Given the description of an element on the screen output the (x, y) to click on. 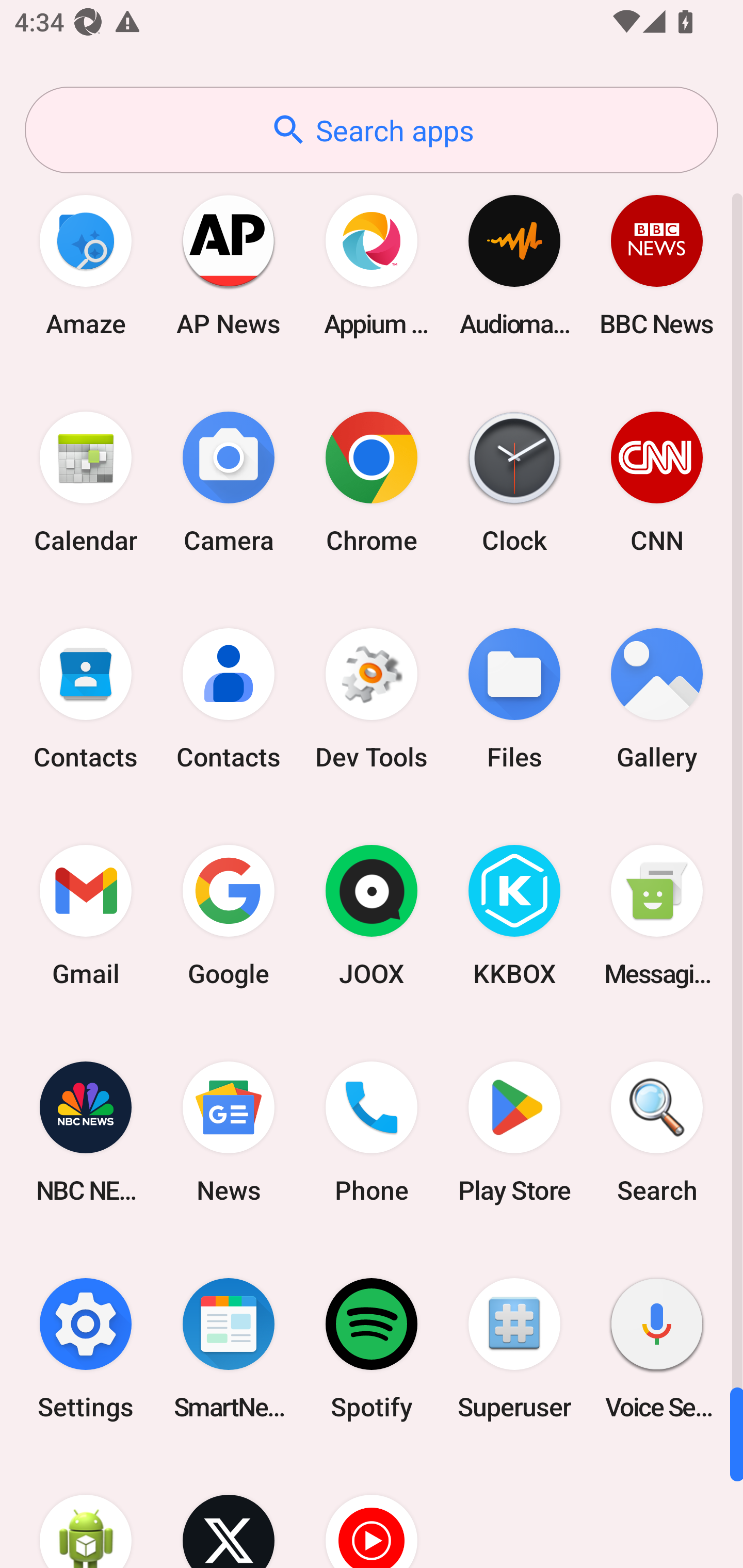
  Search apps (371, 130)
Amaze (85, 264)
AP News (228, 264)
Appium Settings (371, 264)
Audio­mack (514, 264)
BBC News (656, 264)
Calendar (85, 482)
Camera (228, 482)
Chrome (371, 482)
Clock (514, 482)
CNN (656, 482)
Contacts (85, 699)
Contacts (228, 699)
Dev Tools (371, 699)
Files (514, 699)
Gallery (656, 699)
Gmail (85, 915)
Google (228, 915)
JOOX (371, 915)
KKBOX (514, 915)
Messaging (656, 915)
NBC NEWS (85, 1131)
News (228, 1131)
Phone (371, 1131)
Play Store (514, 1131)
Search (656, 1131)
Settings (85, 1348)
SmartNews (228, 1348)
Spotify (371, 1348)
Superuser (514, 1348)
Voice Search (656, 1348)
WebView Browser Tester (85, 1512)
X (228, 1512)
YT Music (371, 1512)
